Given the description of an element on the screen output the (x, y) to click on. 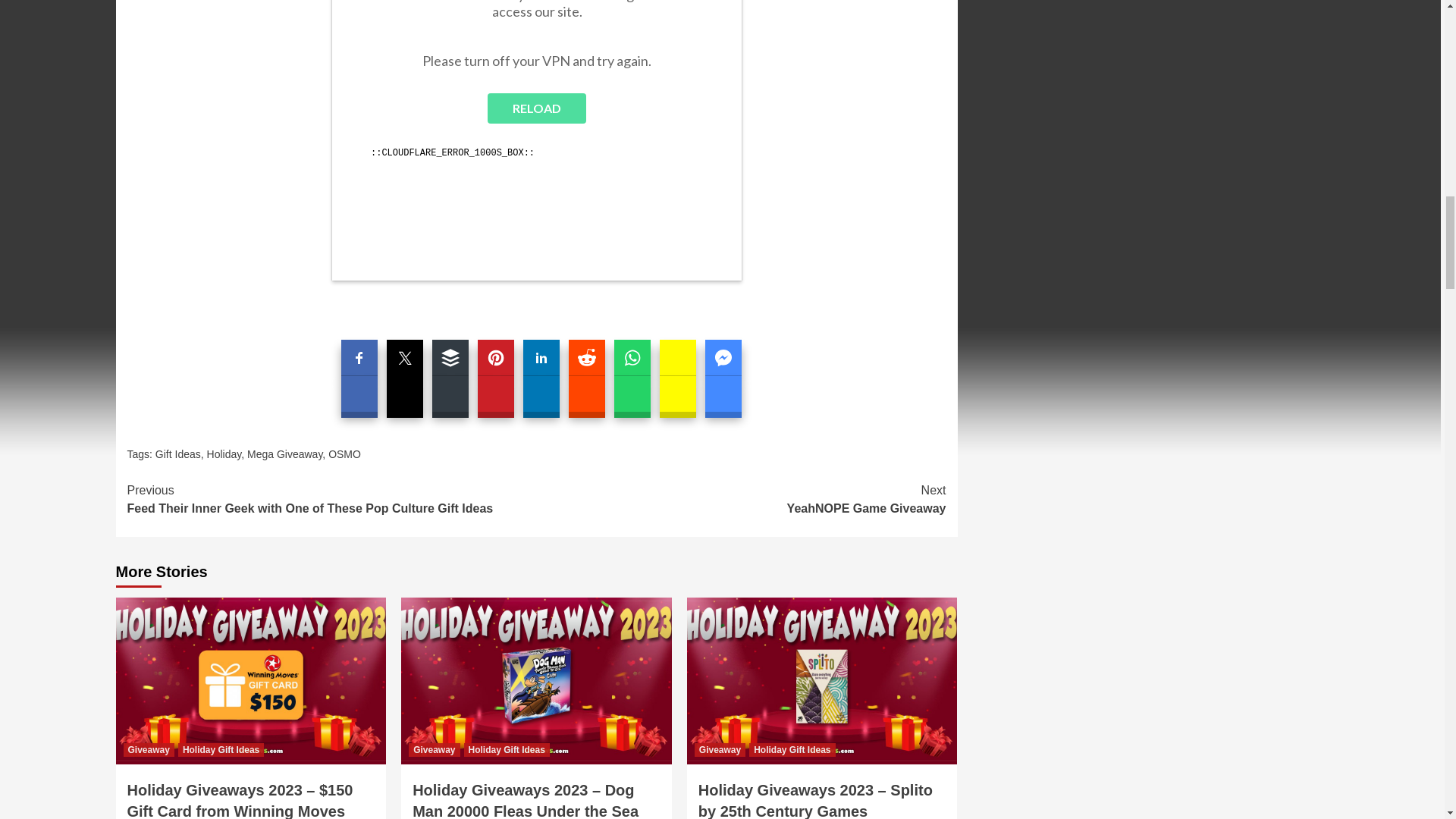
Competition (536, 140)
